Given the description of an element on the screen output the (x, y) to click on. 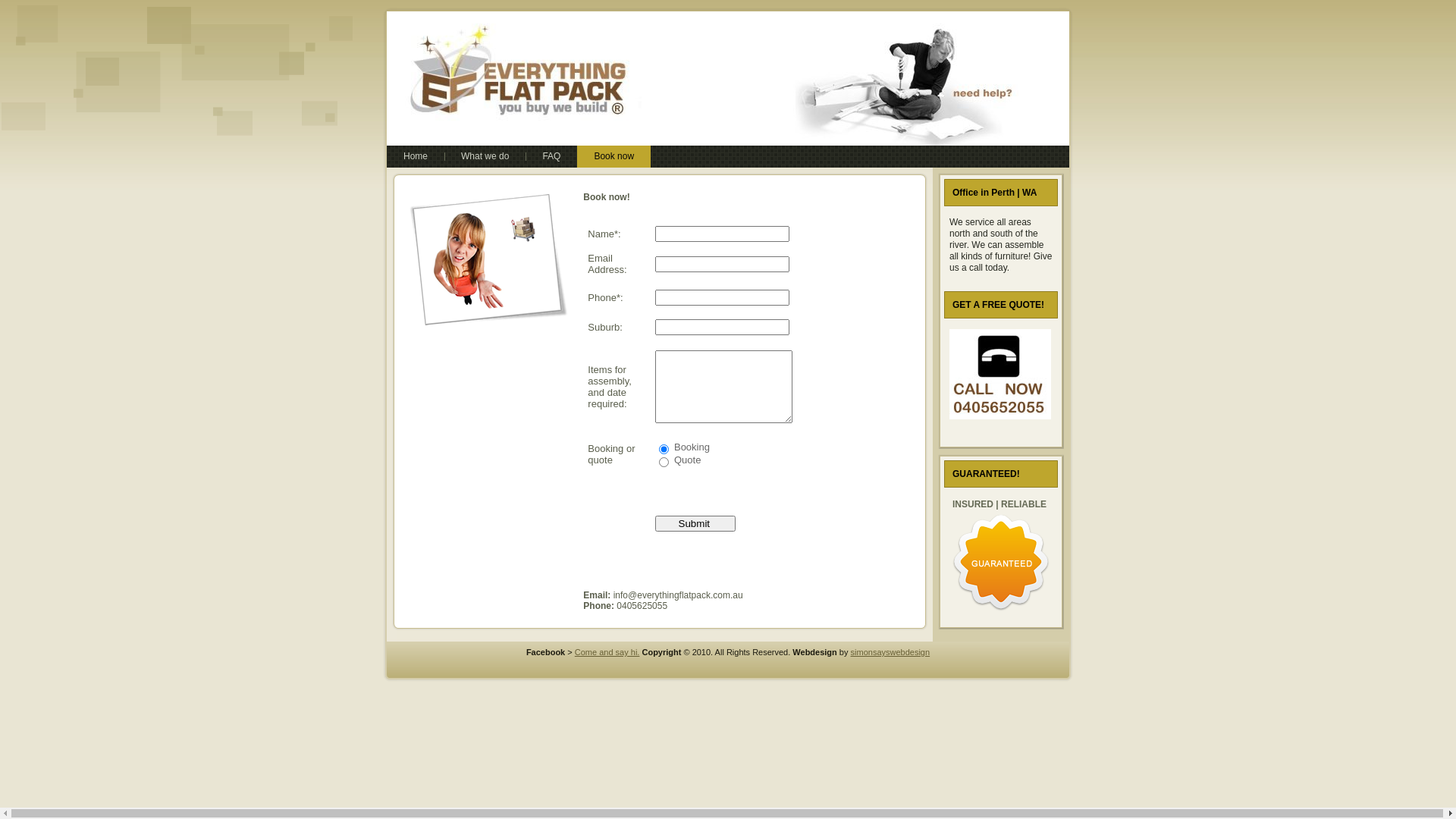
simonsayswebdesign Element type: text (890, 651)
Book now Element type: text (613, 156)
      Submit        Element type: text (695, 523)
FAQ Element type: text (551, 156)
What we do Element type: text (484, 156)
Come and say hi. Element type: text (607, 651)
Home Element type: text (415, 156)
